Given the description of an element on the screen output the (x, y) to click on. 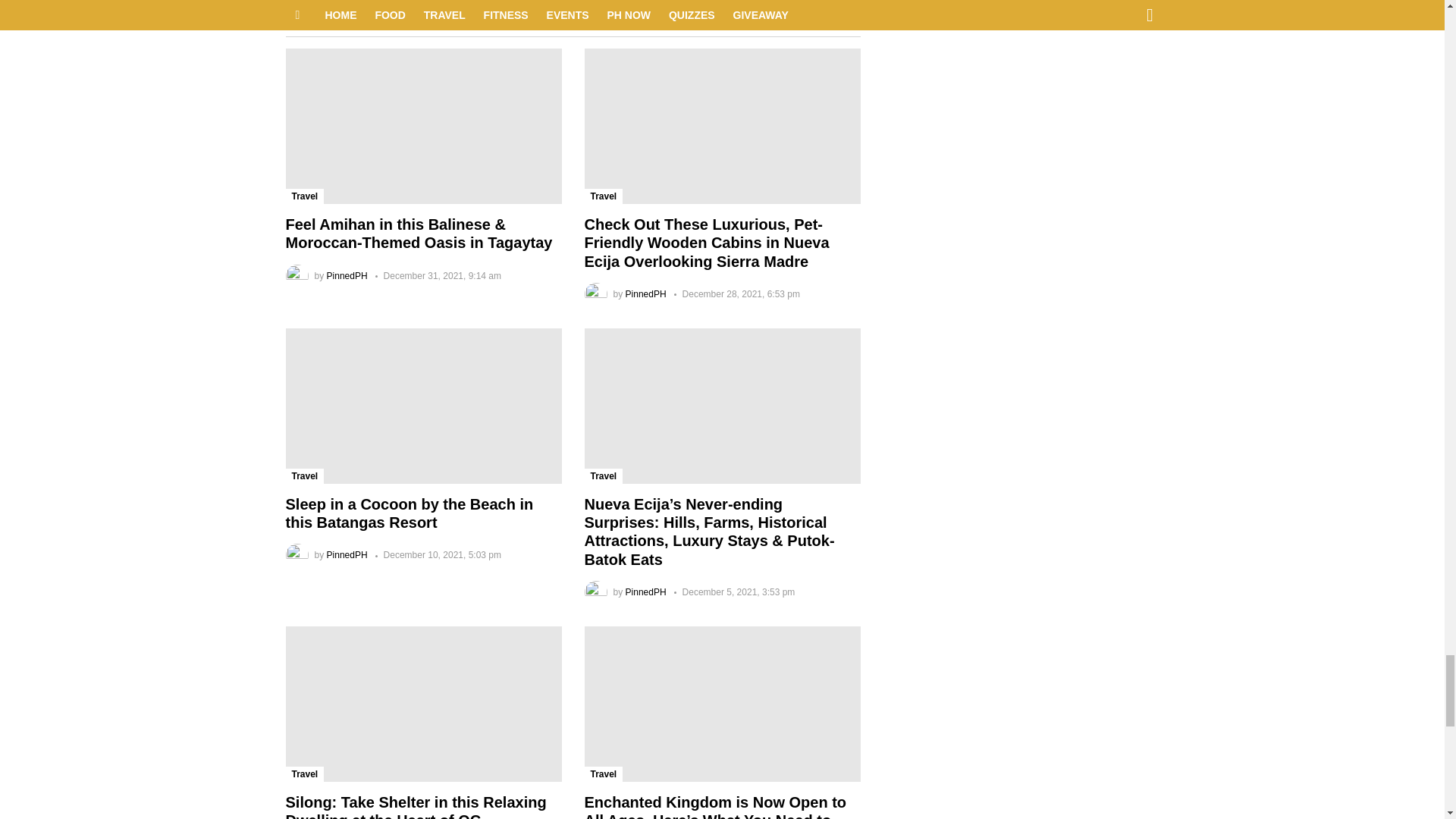
Posts by PinnedPH (347, 276)
Posts by PinnedPH (646, 294)
